Given the description of an element on the screen output the (x, y) to click on. 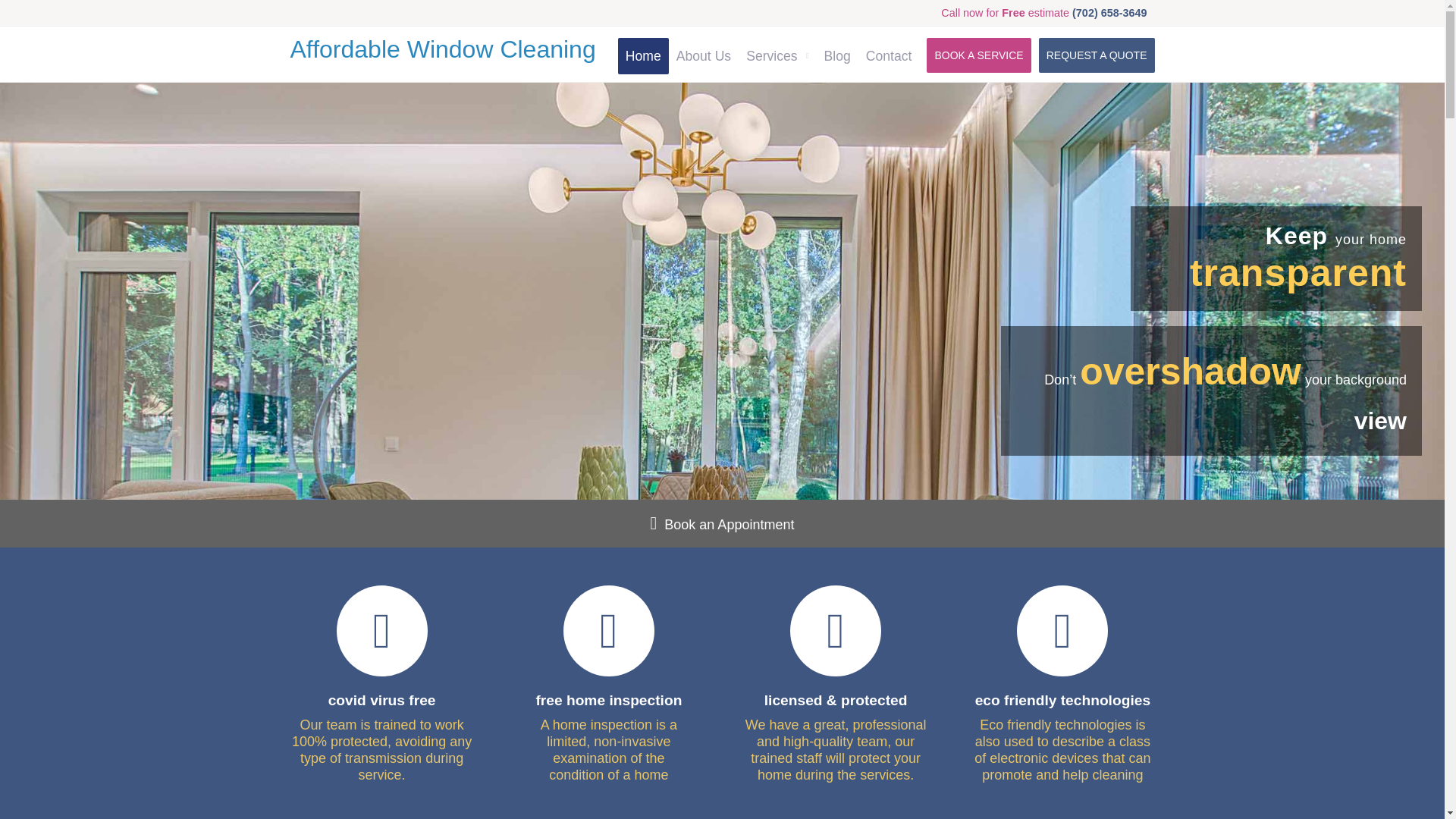
free home inspection (608, 700)
Home (642, 55)
About Us (703, 55)
BOOK A SERVICE (978, 54)
covid virus free (382, 700)
Blog (837, 55)
Affordable Window Cleaning (442, 49)
Book an Appointment (728, 524)
Services (776, 55)
Contact (889, 55)
